Given the description of an element on the screen output the (x, y) to click on. 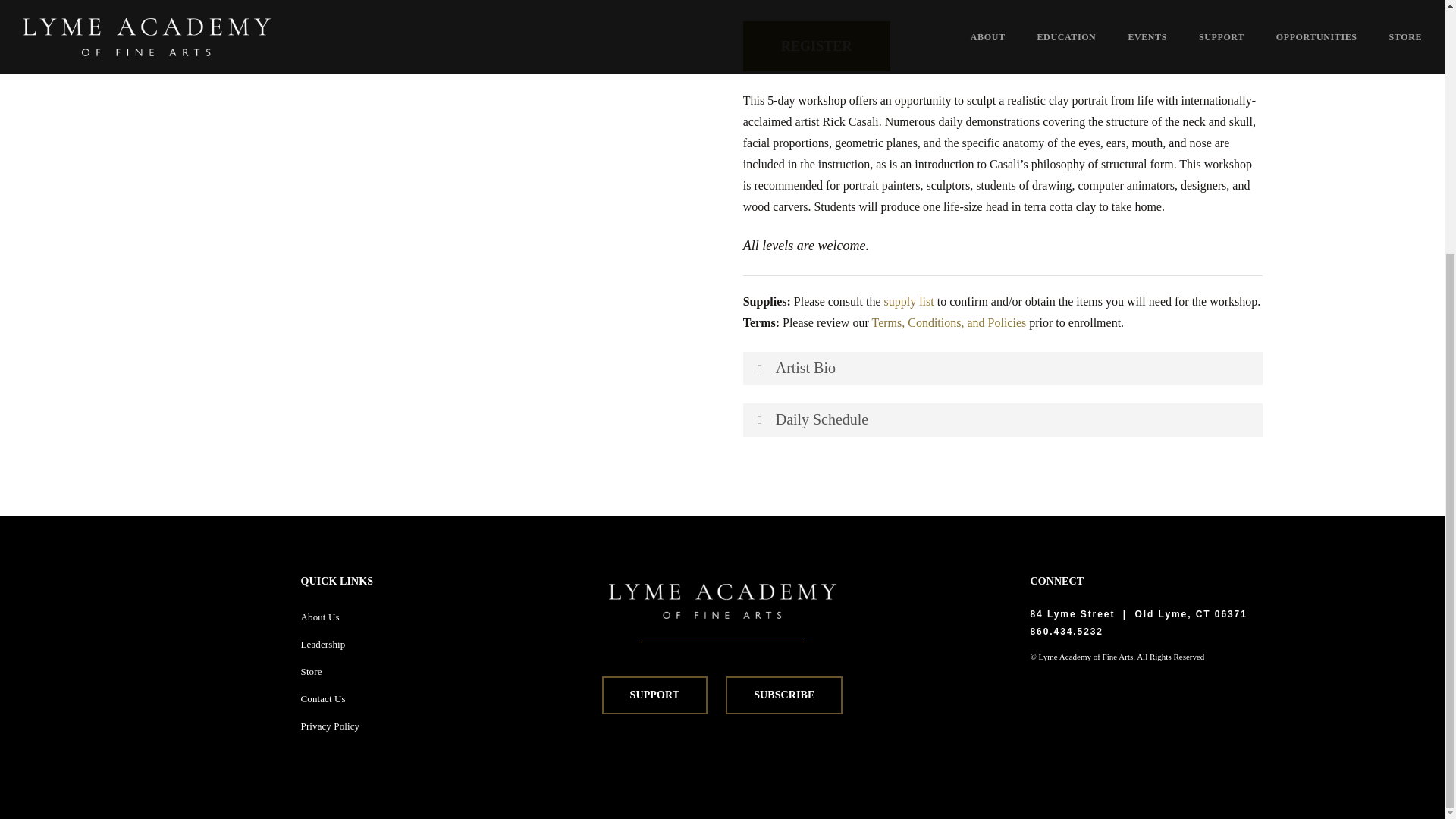
Terms, Conditions, and Policies (948, 322)
supply list (908, 300)
Daily Schedule (1002, 419)
Leadership (323, 644)
About Us (320, 616)
Privacy Policy (330, 726)
Artist Bio (1002, 368)
REGISTER (815, 46)
Contact Us (323, 698)
Store (311, 671)
